Given the description of an element on the screen output the (x, y) to click on. 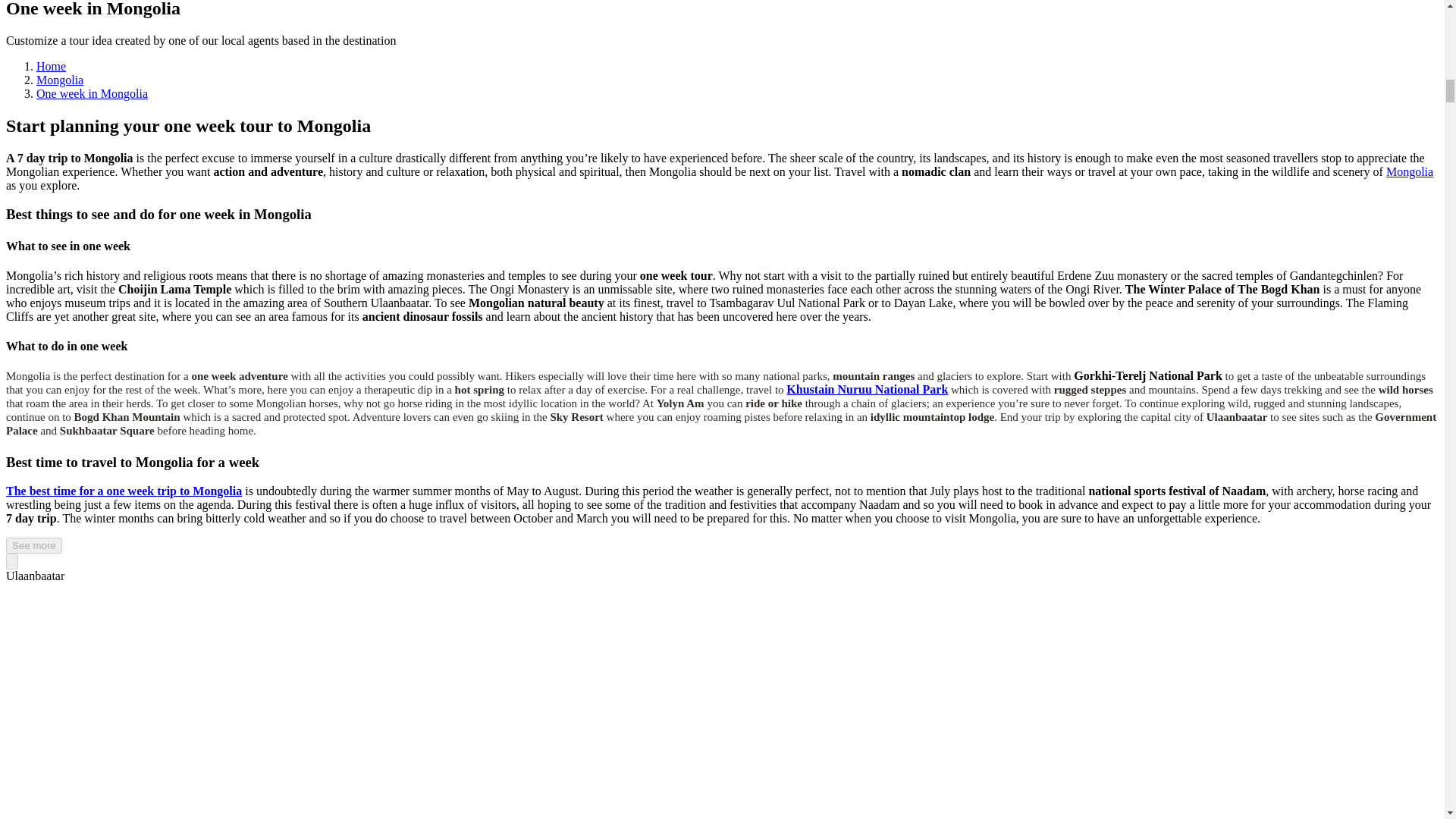
Khustain Nuruu National Park (866, 389)
Mongolia (59, 79)
See more (33, 545)
Home (50, 65)
The best time for a one week trip to Mongolia (123, 490)
One week in Mongolia (92, 92)
